Given the description of an element on the screen output the (x, y) to click on. 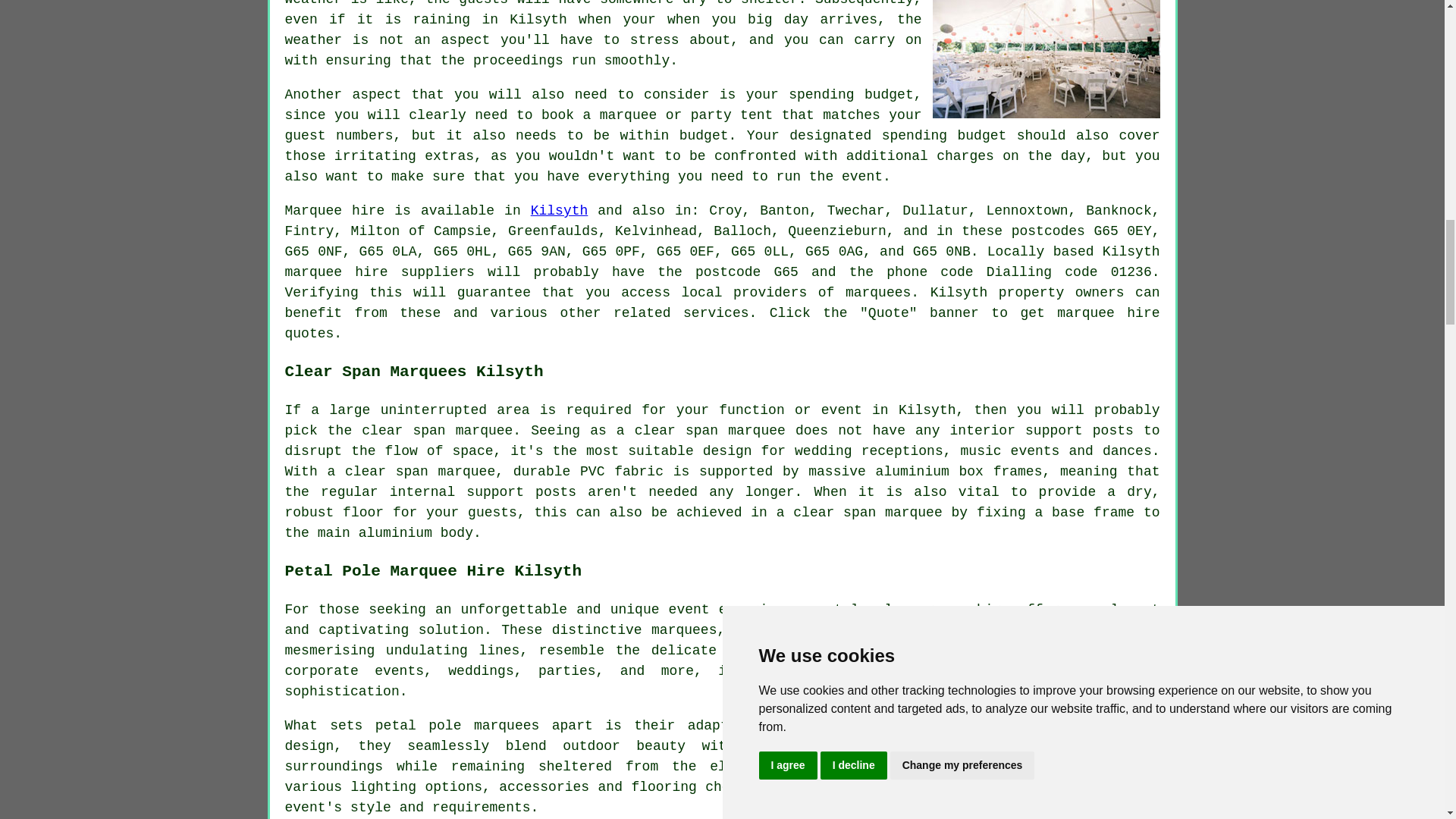
marquees (878, 292)
Marquee hire (335, 210)
marquee hire (336, 272)
petal pole marquee hire (913, 609)
